Given the description of an element on the screen output the (x, y) to click on. 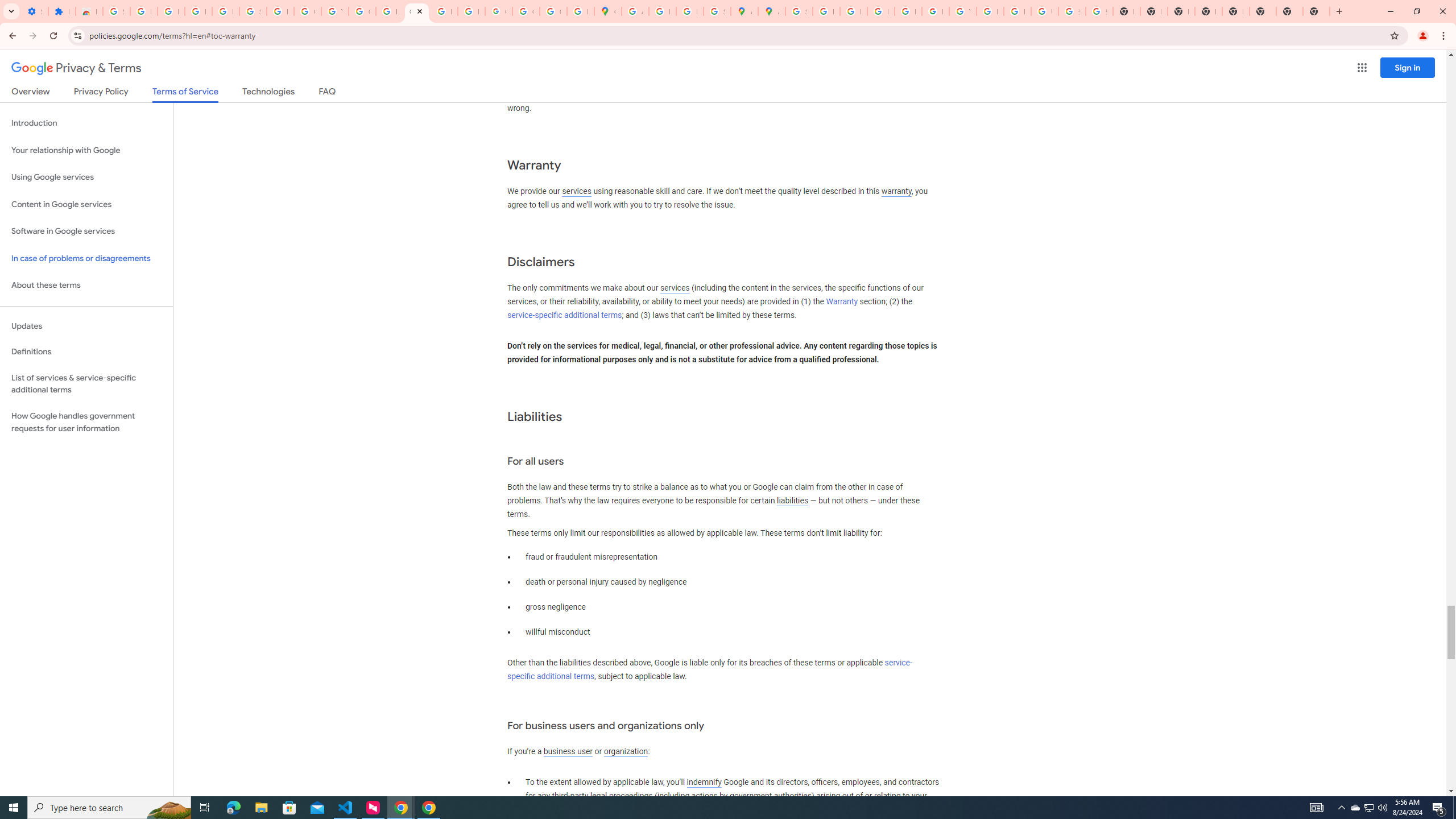
Settings - On startup (34, 11)
Technologies (268, 93)
warranty (895, 191)
Google Maps (607, 11)
How Google handles government requests for user information (86, 422)
Using Google services (86, 176)
Privacy Help Center - Policies Help (853, 11)
